Given the description of an element on the screen output the (x, y) to click on. 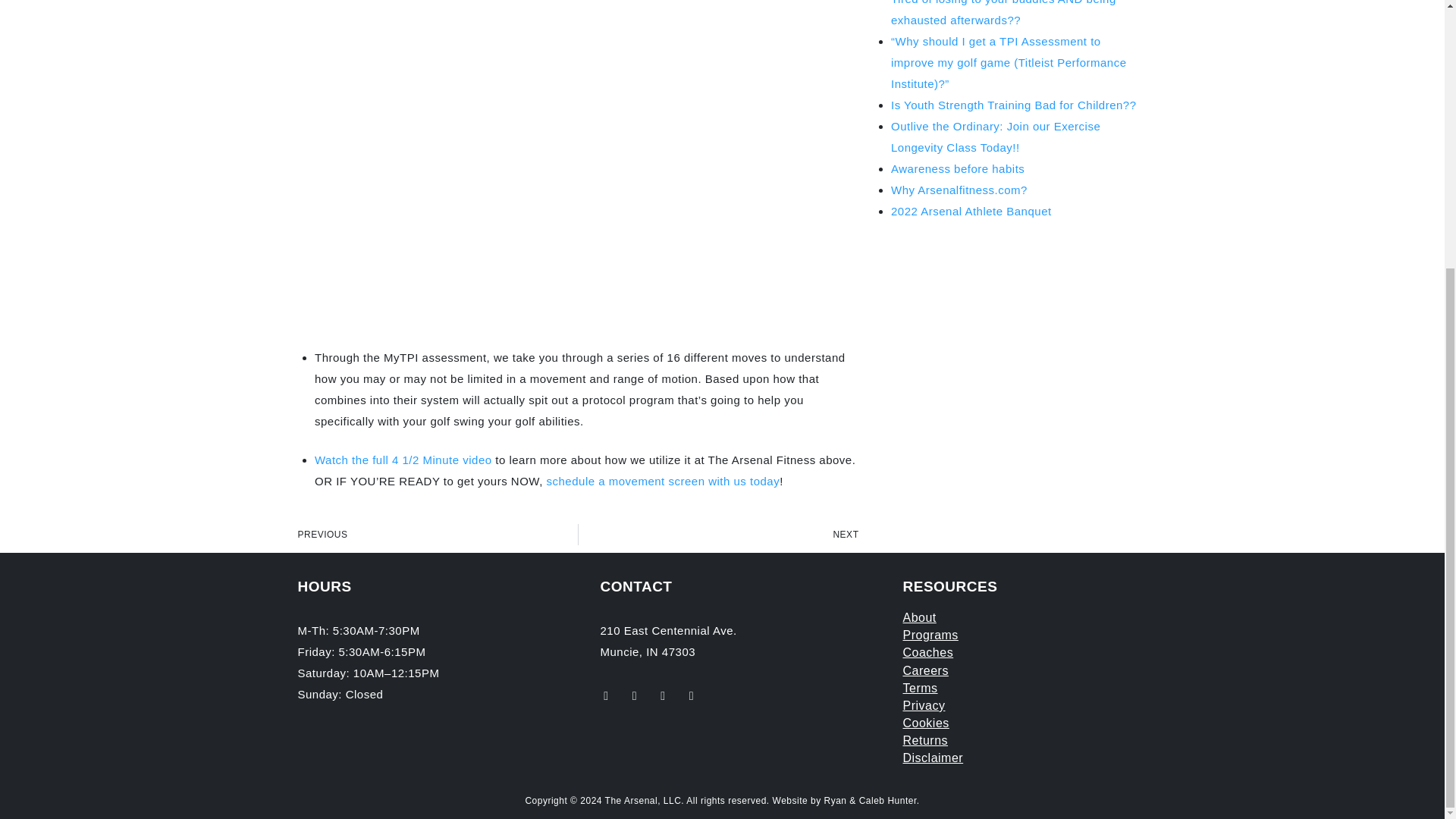
schedule a movement screen with us today (663, 481)
